Given the description of an element on the screen output the (x, y) to click on. 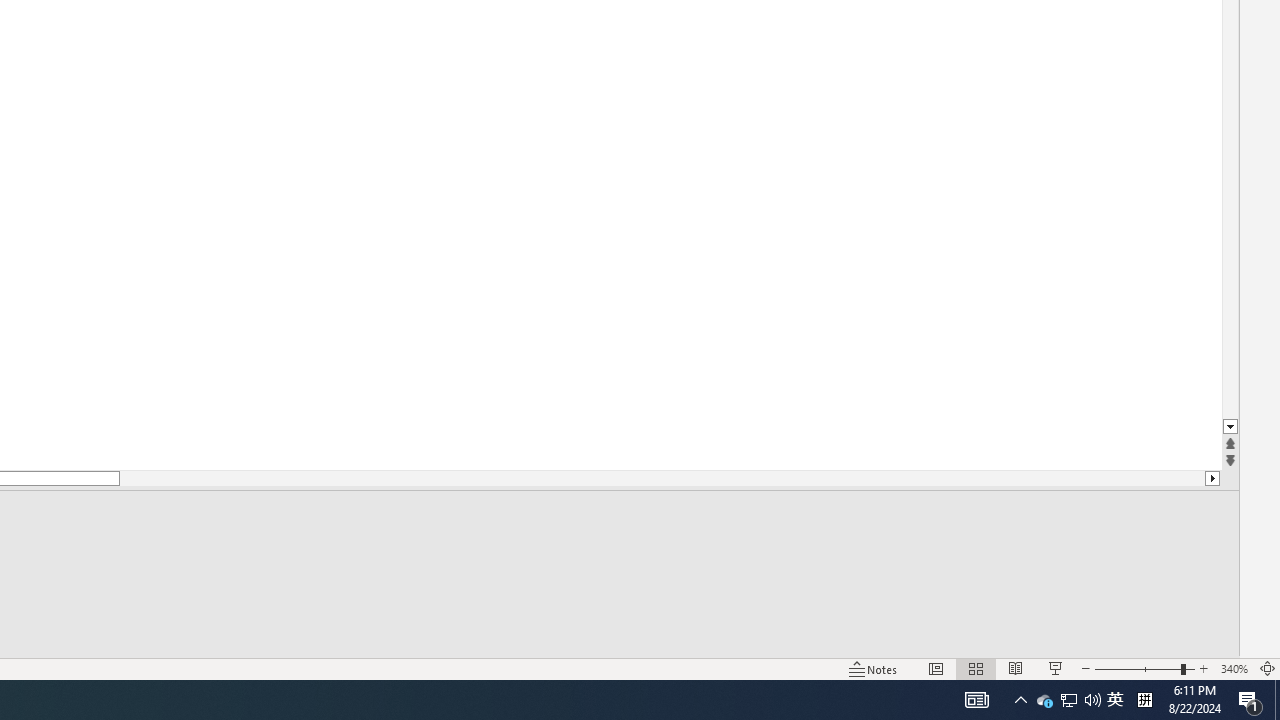
Zoom 340% (1234, 668)
